Given the description of an element on the screen output the (x, y) to click on. 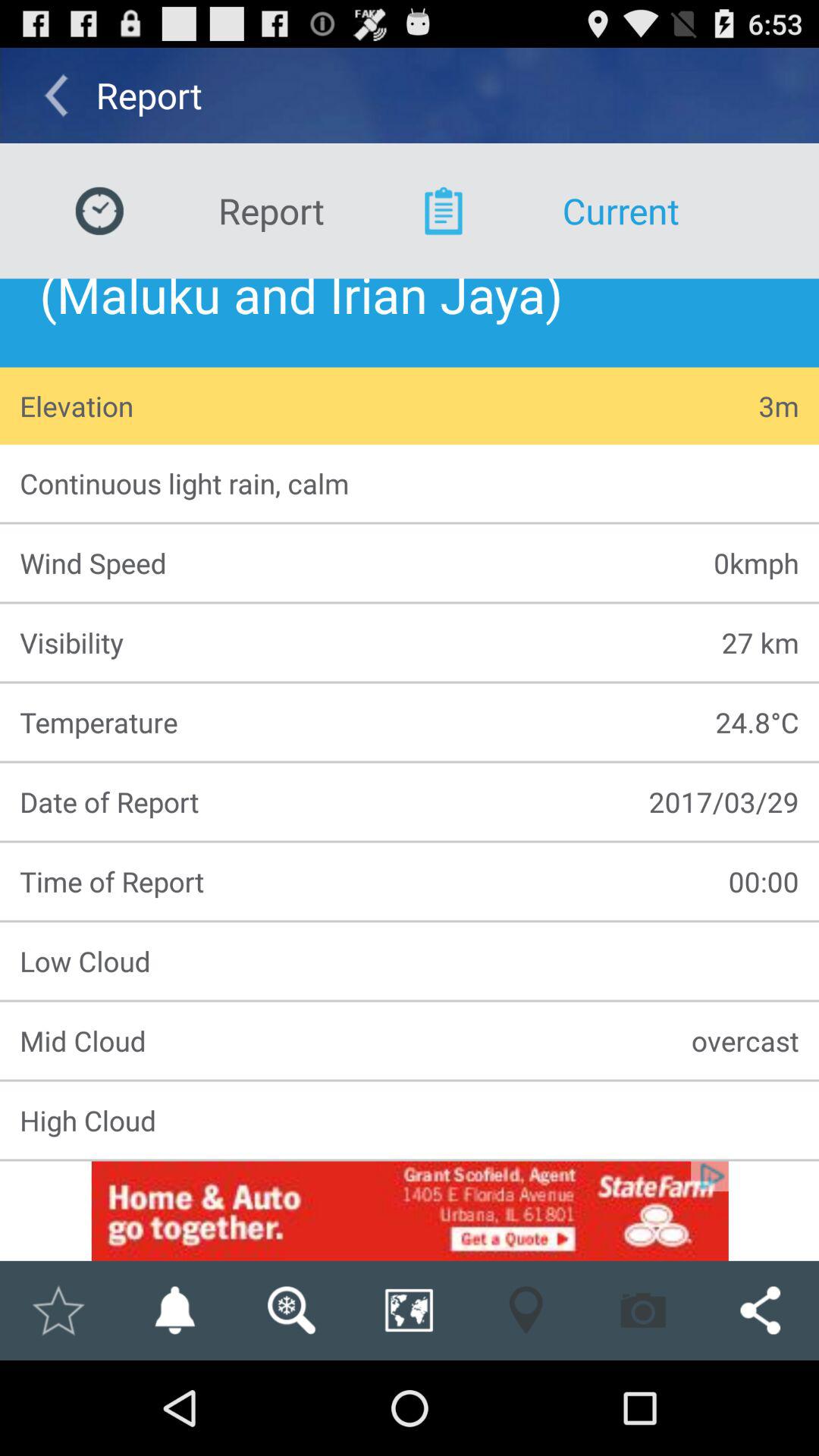
share this (760, 1310)
